Given the description of an element on the screen output the (x, y) to click on. 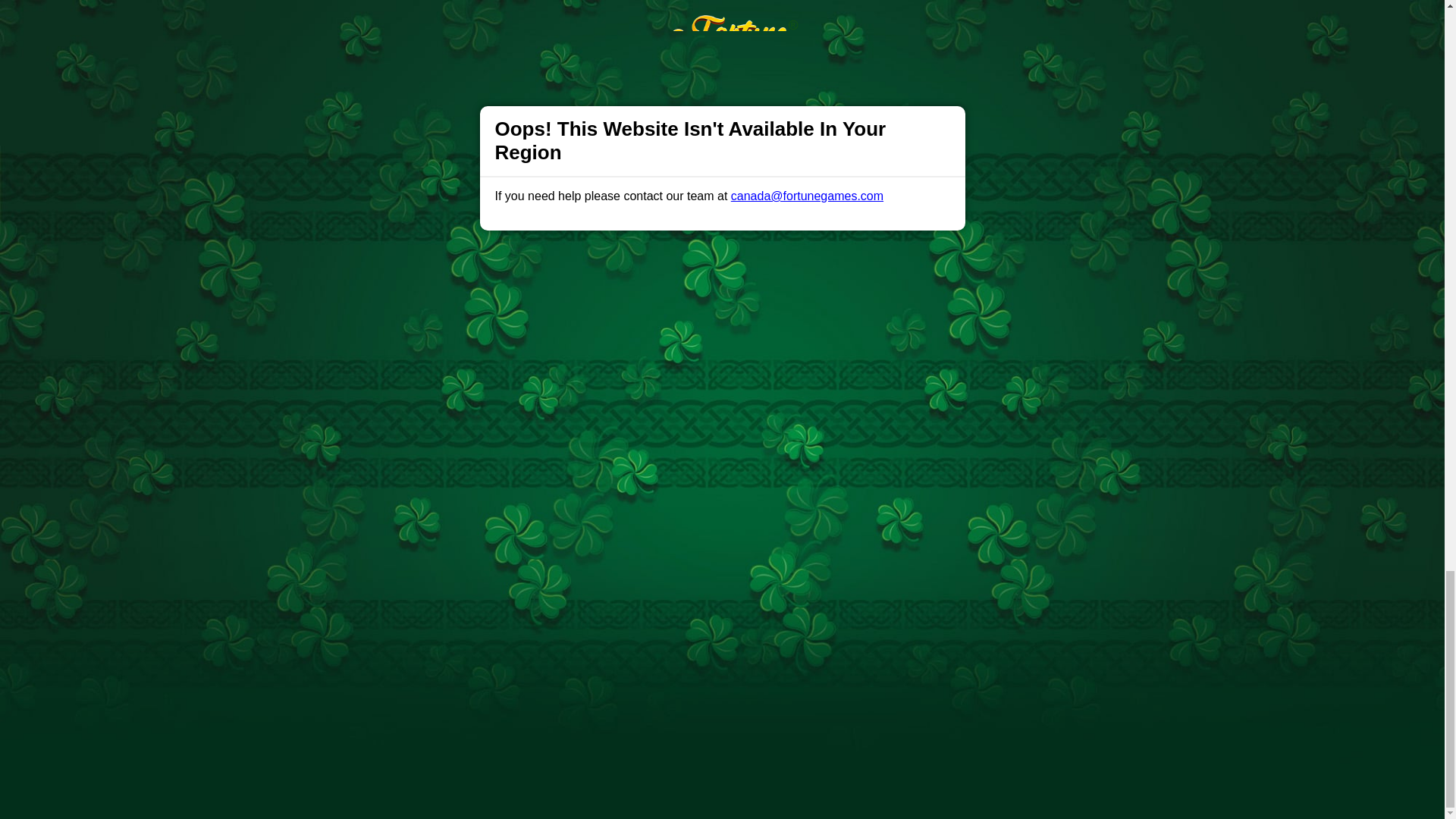
Blog (738, 502)
Help (489, 502)
Affiliates (791, 502)
Privacy Policy (671, 502)
www.jumpmancares.co.uk (616, 668)
Jumpman Gaming Limited (550, 705)
Responsible Gaming (407, 502)
